Given the description of an element on the screen output the (x, y) to click on. 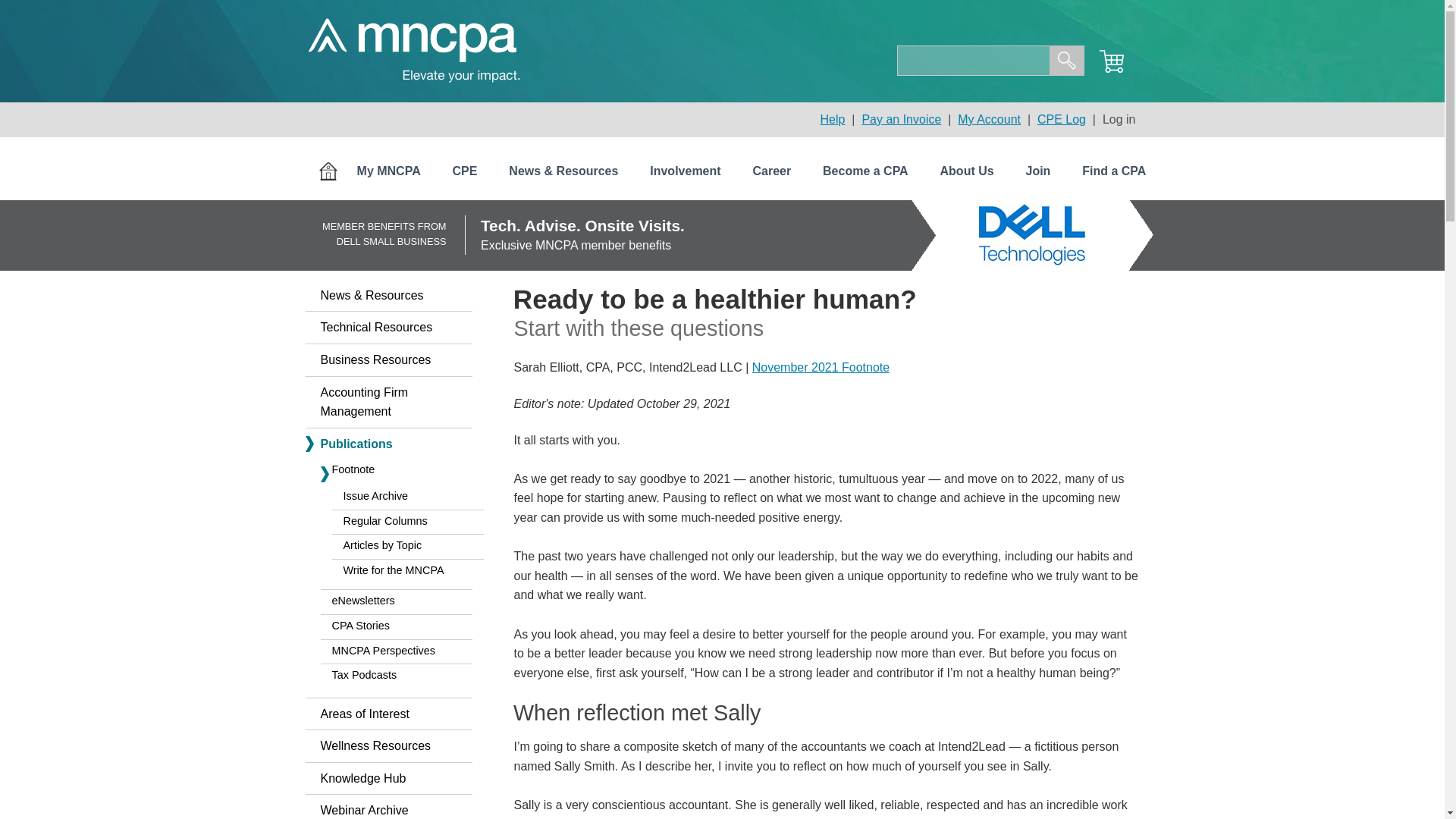
Search (1066, 60)
Search (1066, 60)
Log in (1118, 119)
Search (1066, 60)
Help (833, 119)
My Account (989, 119)
CPE Log (1061, 119)
Pay an Invoice (900, 119)
